Given the description of an element on the screen output the (x, y) to click on. 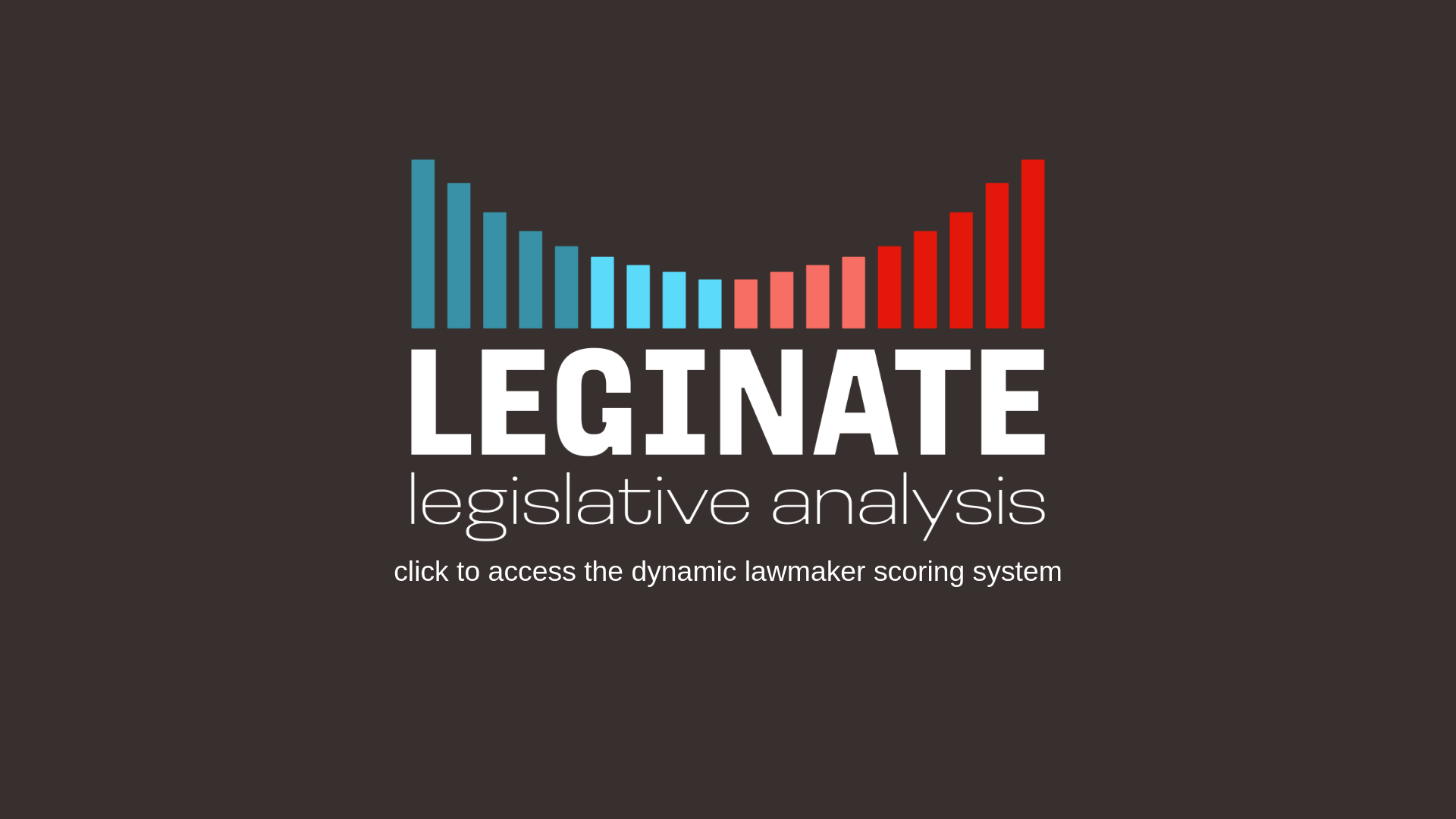
Submit (497, 13)
